Given the description of an element on the screen output the (x, y) to click on. 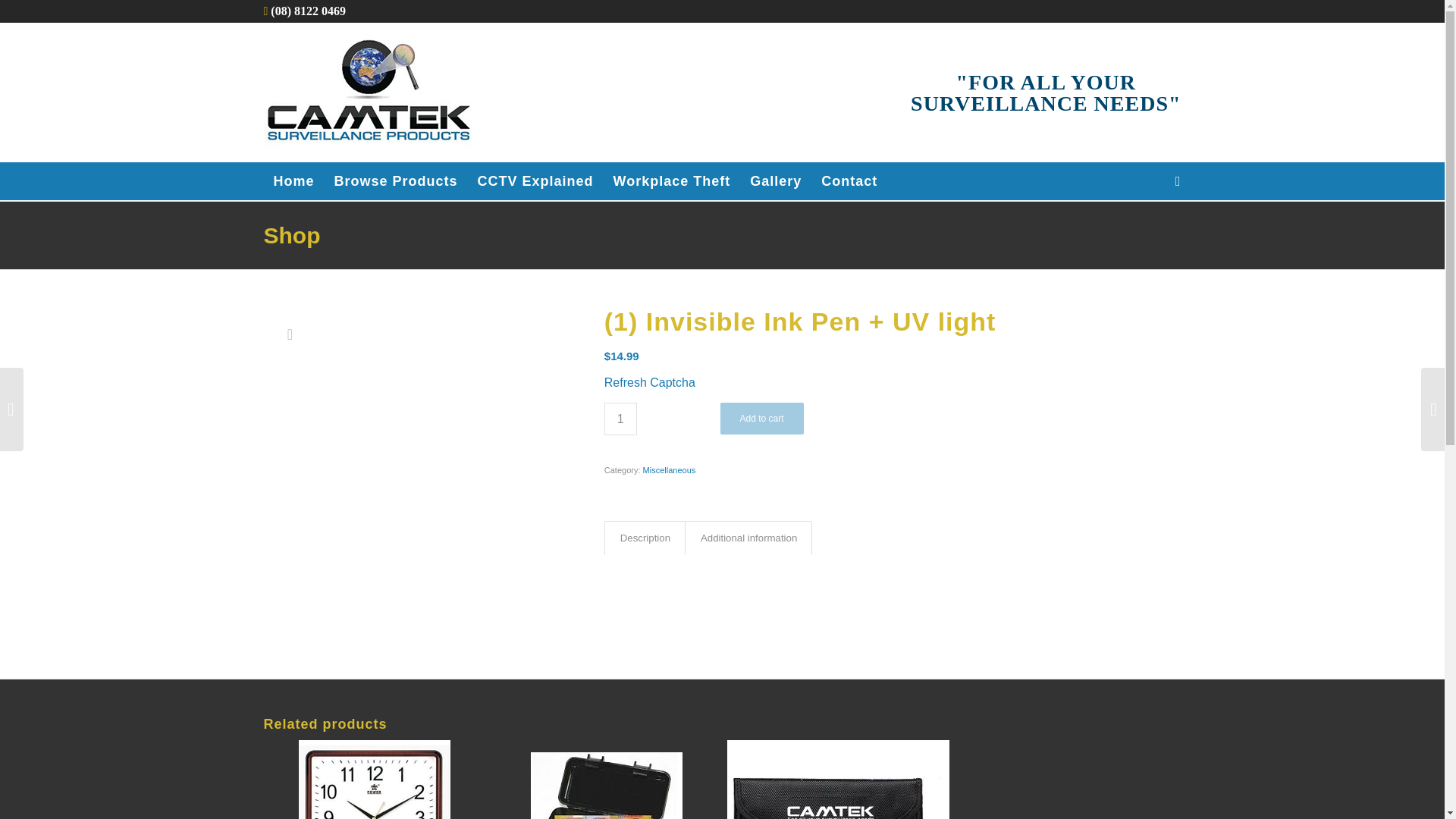
Refresh Captcha (649, 382)
CCTV Explained (535, 180)
1 (620, 418)
Gallery (774, 180)
logo (368, 92)
Description (644, 538)
Workplace Theft (672, 180)
Browse Products (395, 180)
Contact (848, 180)
Additional information (748, 538)
